Given the description of an element on the screen output the (x, y) to click on. 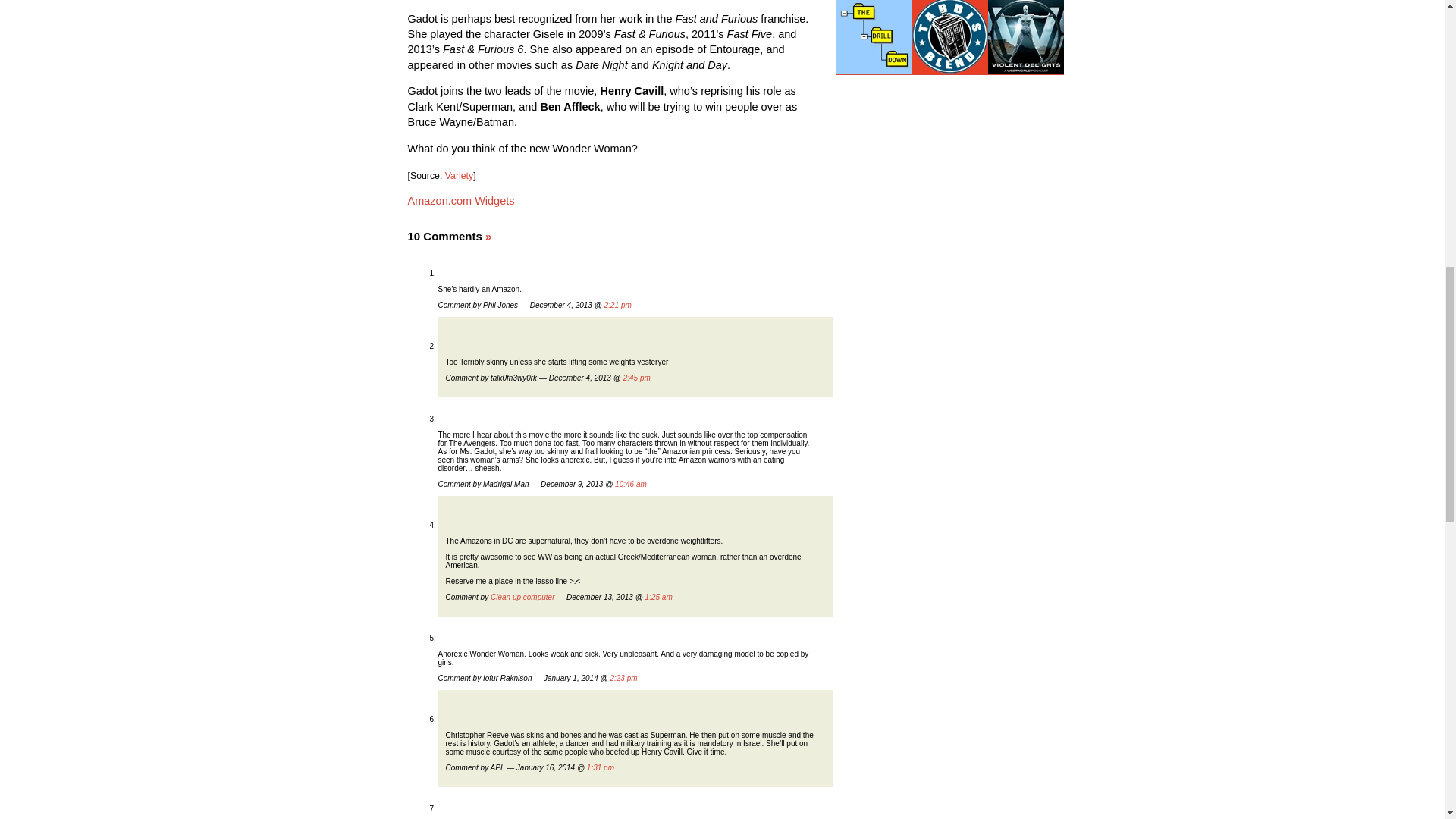
2:45 pm (636, 377)
Variety (459, 175)
Amazon.com Widgets (461, 200)
10:46 am (630, 483)
2:21 pm (617, 305)
1:25 am (658, 596)
Clean up computer (522, 596)
2:23 pm (623, 678)
1:31 pm (600, 767)
